Given the description of an element on the screen output the (x, y) to click on. 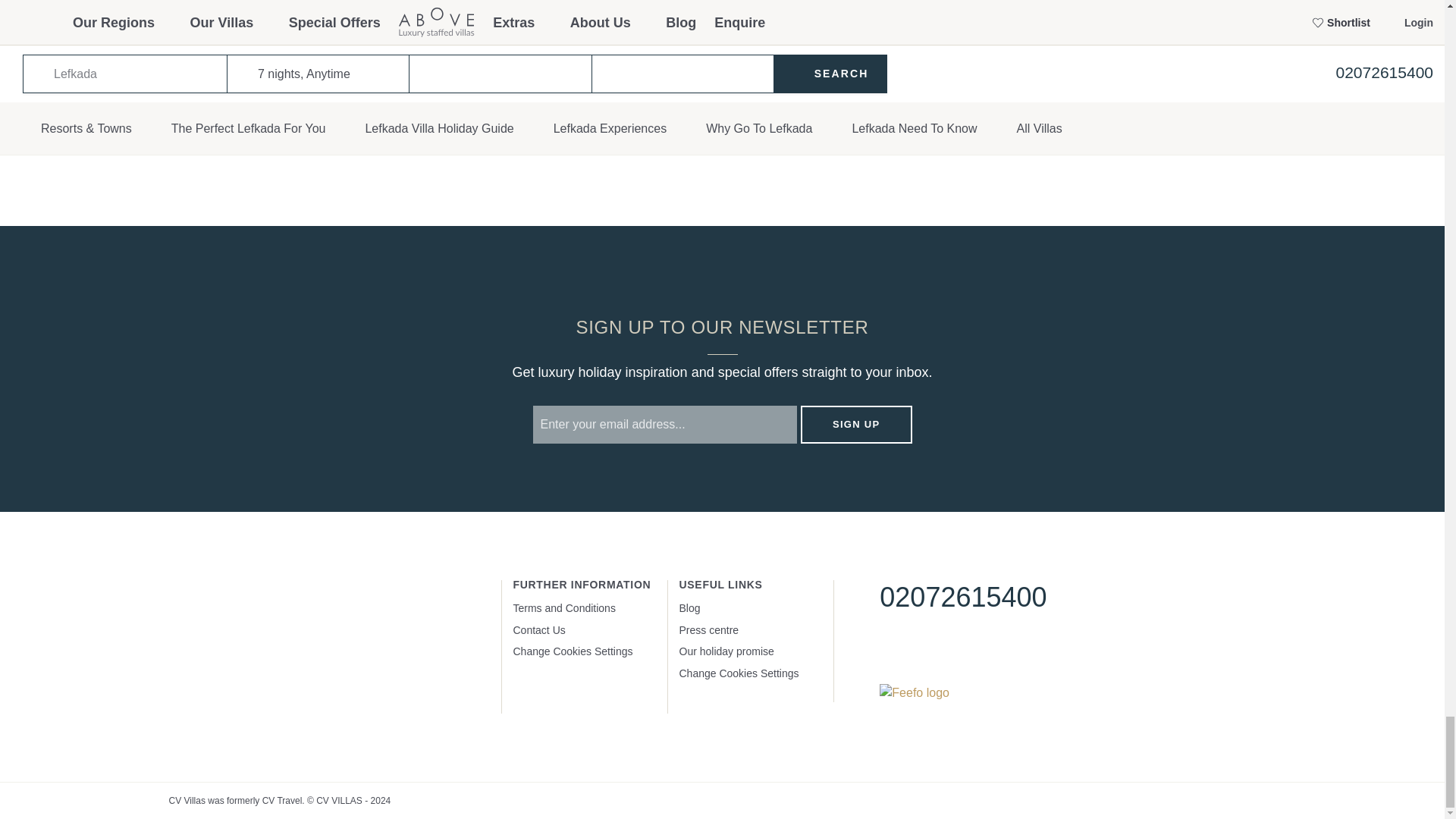
Facebook (890, 651)
Our customer Feefo rating (914, 692)
Instagram (1027, 651)
Twitter (935, 651)
Pinterest (981, 651)
